Given the description of an element on the screen output the (x, y) to click on. 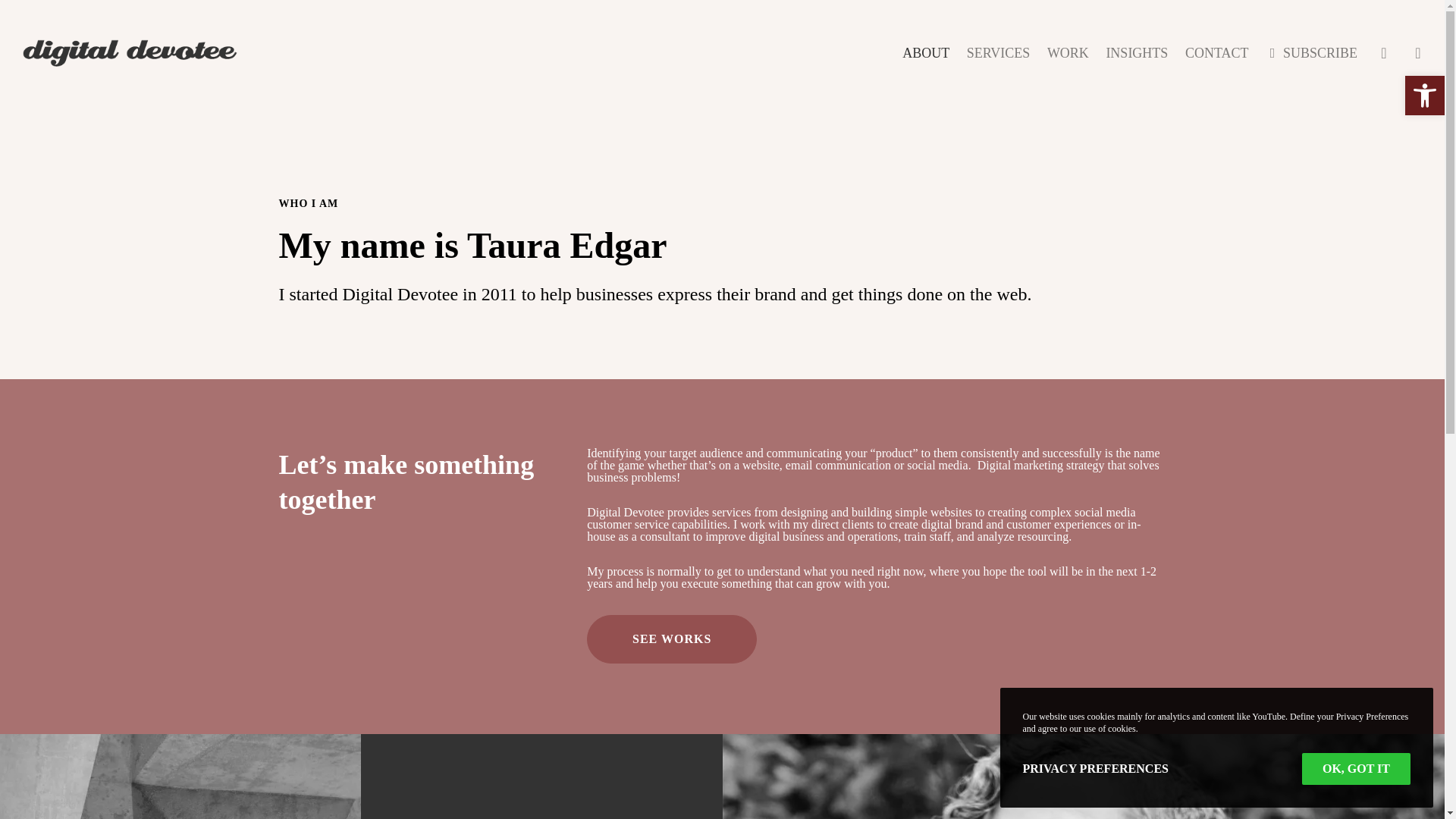
Accessibility Tools (1424, 95)
LINKEDIN (465, 634)
SUBSCRIBE (912, 633)
TWITTER (369, 634)
SEE WORKS (671, 639)
how and why you should create a business podcast (720, 712)
10 ideas for professional services newsletters (720, 671)
SUBSCRIBE (1308, 53)
10 ideas for professional services newsletters (720, 671)
how and why you should create a business podcast (720, 712)
